Given the description of an element on the screen output the (x, y) to click on. 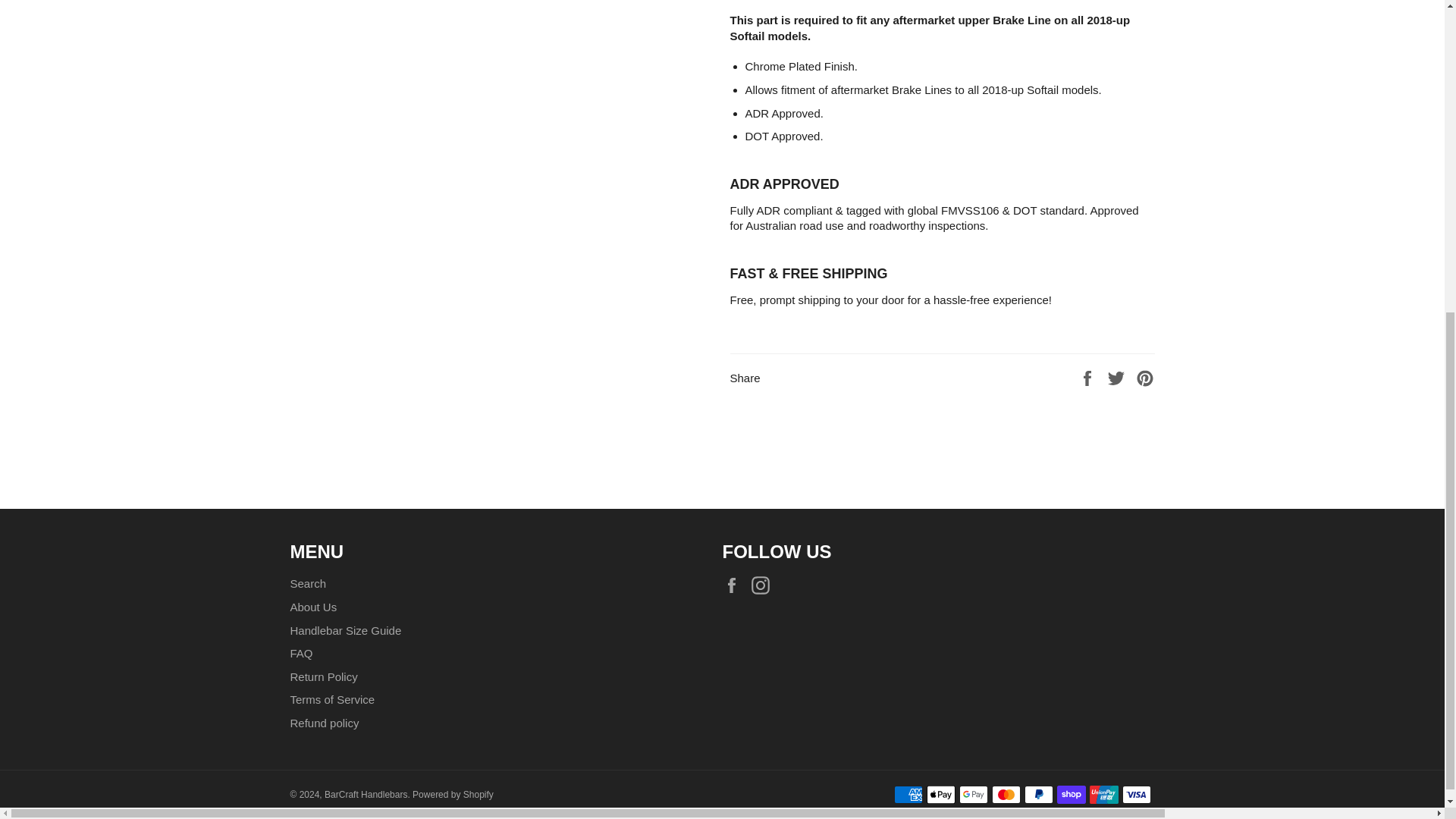
Share on Facebook (1088, 377)
Pin on Pinterest (1144, 377)
BarCraft Handlebars on Facebook (735, 585)
Tweet on Twitter (1117, 377)
BarCraft Handlebars on Instagram (764, 585)
